Given the description of an element on the screen output the (x, y) to click on. 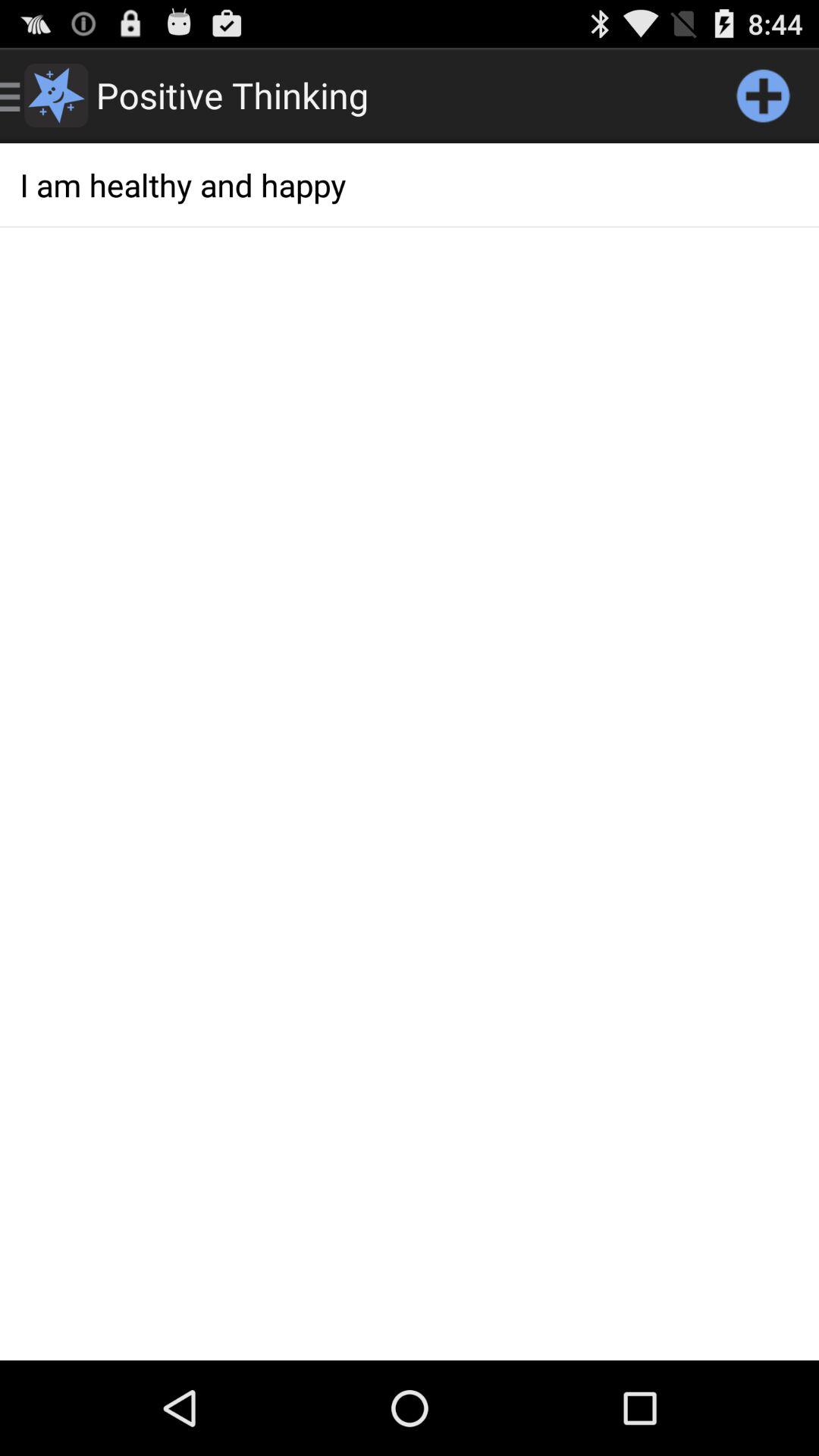
choose the item at the top (409, 184)
